Given the description of an element on the screen output the (x, y) to click on. 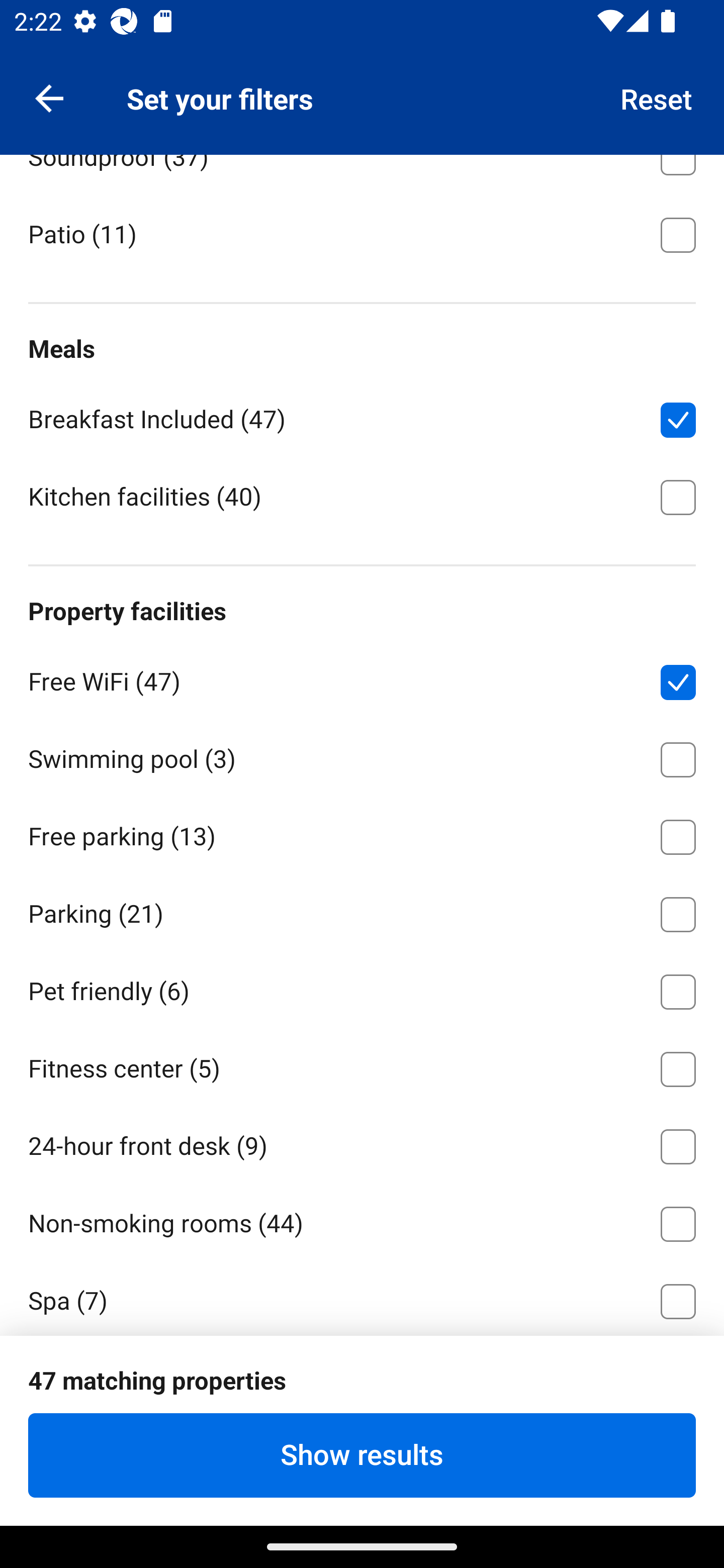
Coffee/Tea maker ⁦(47) (361, 76)
Navigate up (49, 97)
Reset (656, 97)
Patio ⁦(11) (361, 233)
Breakfast Included ⁦(47) (361, 415)
Kitchen facilities ⁦(40) (361, 495)
Free WiFi ⁦(47) (361, 678)
Swimming pool ⁦(3) (361, 756)
Free parking ⁦(13) (361, 832)
Parking ⁦(21) (361, 910)
Pet friendly ⁦(6) (361, 988)
Fitness center ⁦(5) (361, 1065)
24-hour front desk ⁦(9) (361, 1142)
Non-smoking rooms ⁦(44) (361, 1220)
Spa ⁦(7) (361, 1297)
Airport shuttle ⁦(34) (361, 1375)
Restaurant ⁦(5) (361, 1452)
